Given the description of an element on the screen output the (x, y) to click on. 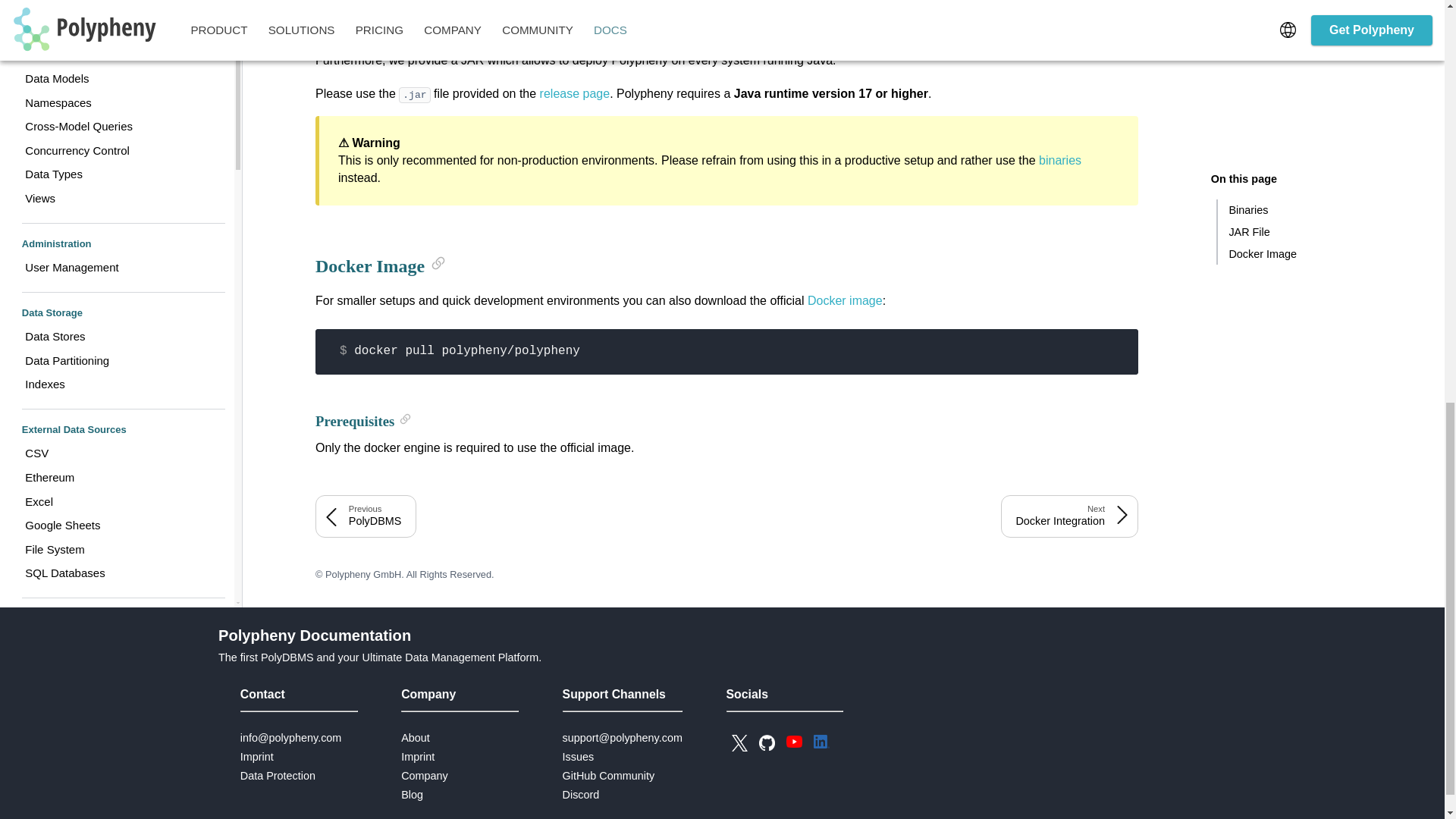
SQL Databases (116, 6)
SQL (116, 70)
